Given the description of an element on the screen output the (x, y) to click on. 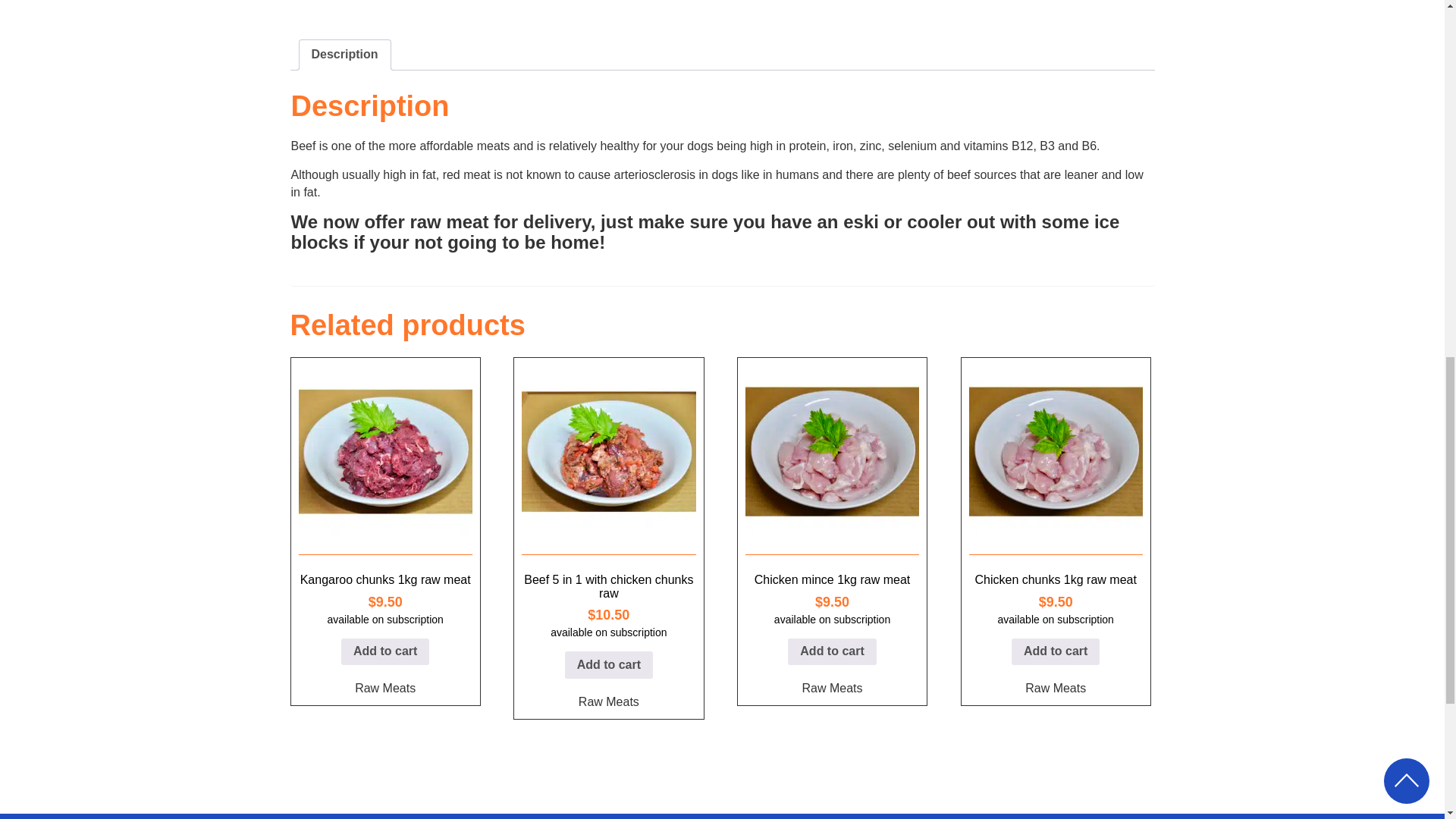
Add to cart (384, 651)
Add to cart (608, 664)
Description (344, 54)
Beef chunks 1kg raw meat (496, 7)
